Given the description of an element on the screen output the (x, y) to click on. 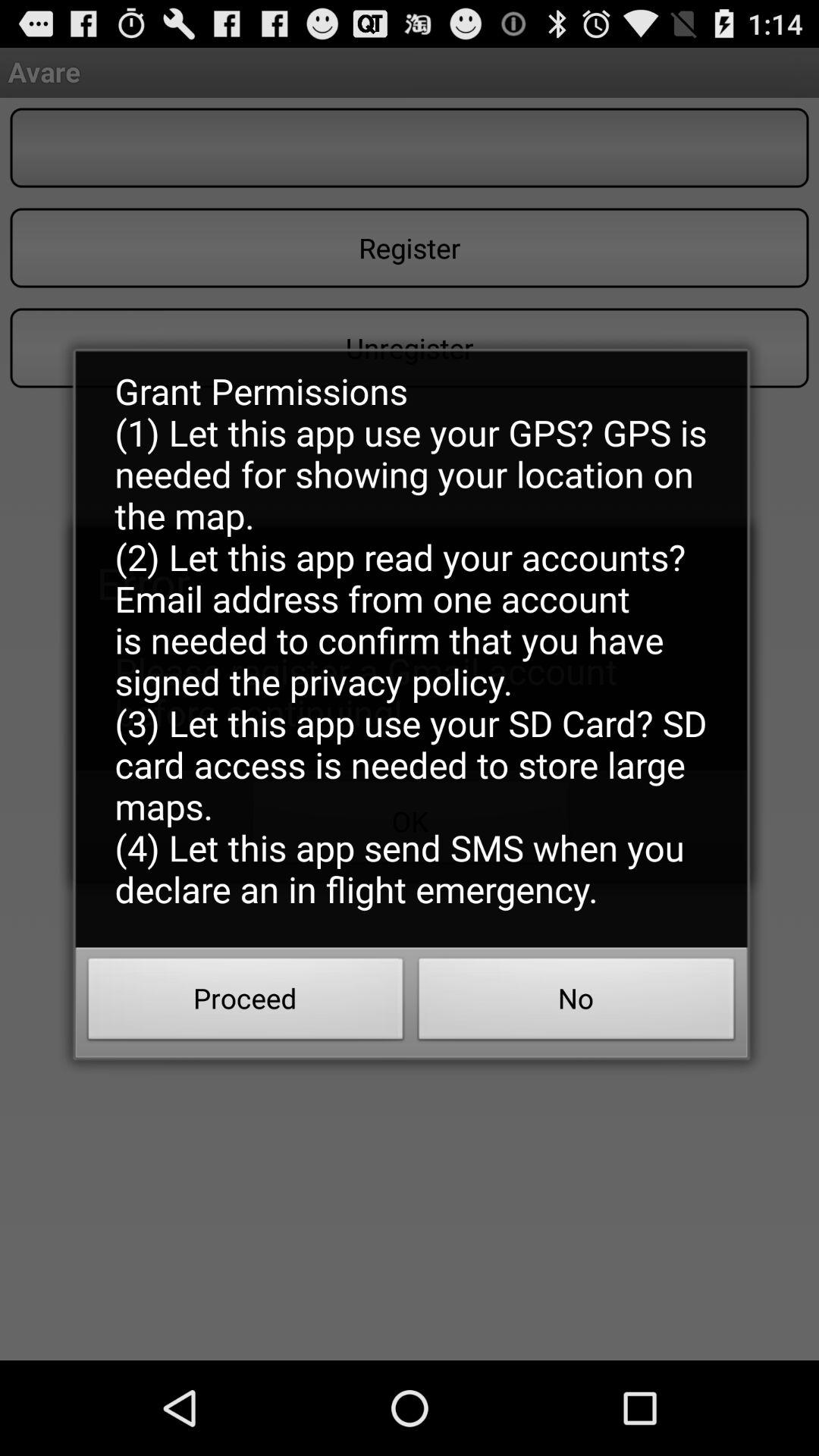
choose icon next to the proceed item (576, 1003)
